Given the description of an element on the screen output the (x, y) to click on. 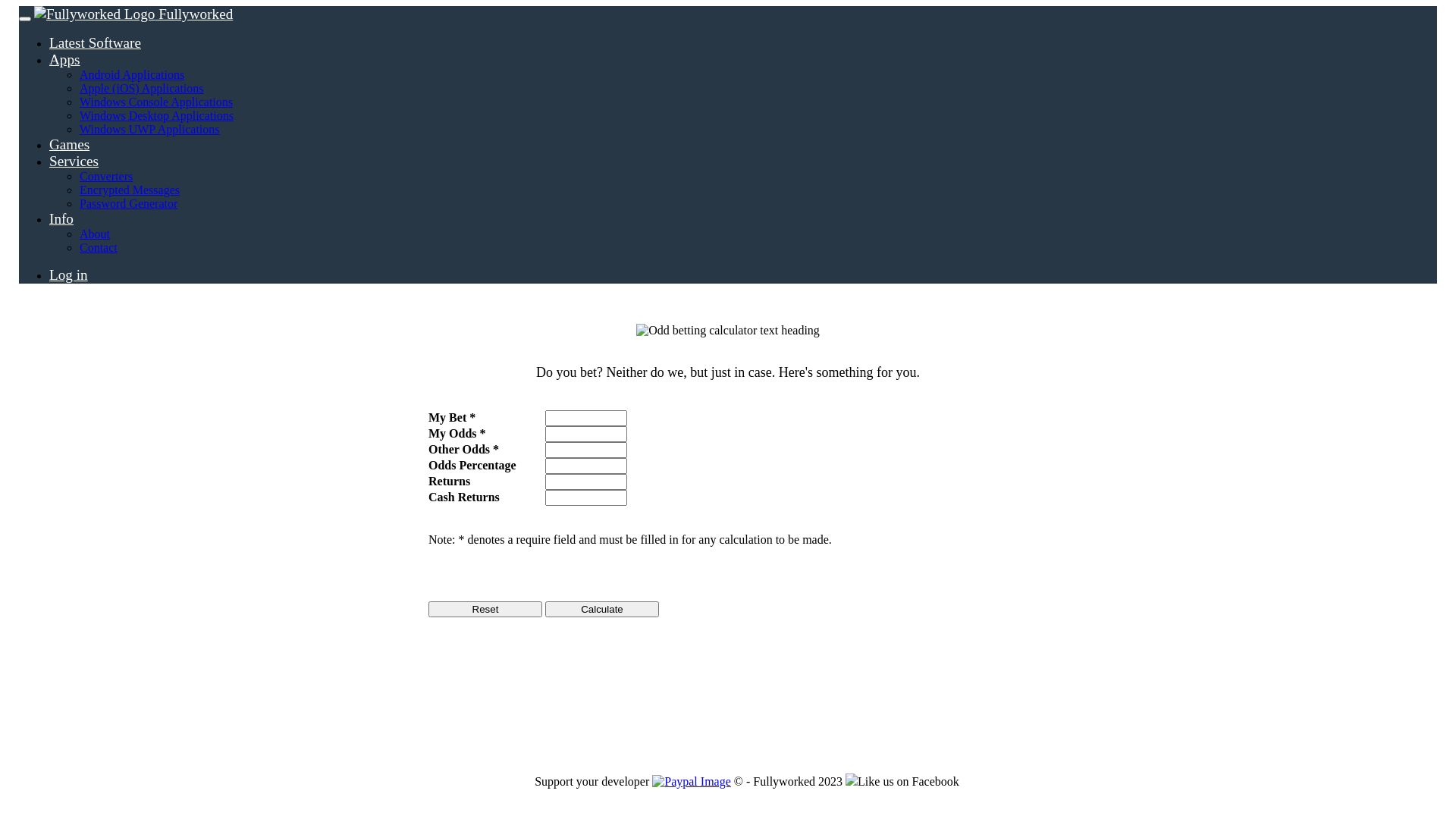
Encrypted Messages Element type: text (129, 189)
Windows UWP Applications Element type: text (149, 128)
This displays your returns. Element type: hover (586, 481)
Log in Element type: text (68, 263)
Enter in your odds here. Element type: hover (586, 434)
Windows Console Applications Element type: text (155, 101)
Enter in the other odd here. Element type: hover (586, 450)
Password Generator Element type: text (128, 203)
Android Applications Element type: text (131, 74)
Calculate Element type: text (601, 609)
Apple (iOS) Applications Element type: text (141, 87)
Windows Desktop Applications Element type: text (156, 115)
About Element type: text (94, 233)
This displays how much chance you have of winning. Element type: hover (586, 465)
Reset Element type: text (485, 609)
Latest Software Element type: text (95, 31)
Enter in the amount for your bet here. Element type: hover (586, 418)
Converters Element type: text (105, 175)
Games Element type: text (69, 132)
Services Element type: text (73, 149)
Contact Element type: text (98, 247)
Apps Element type: text (64, 47)
Info Element type: text (61, 207)
